Given the description of an element on the screen output the (x, y) to click on. 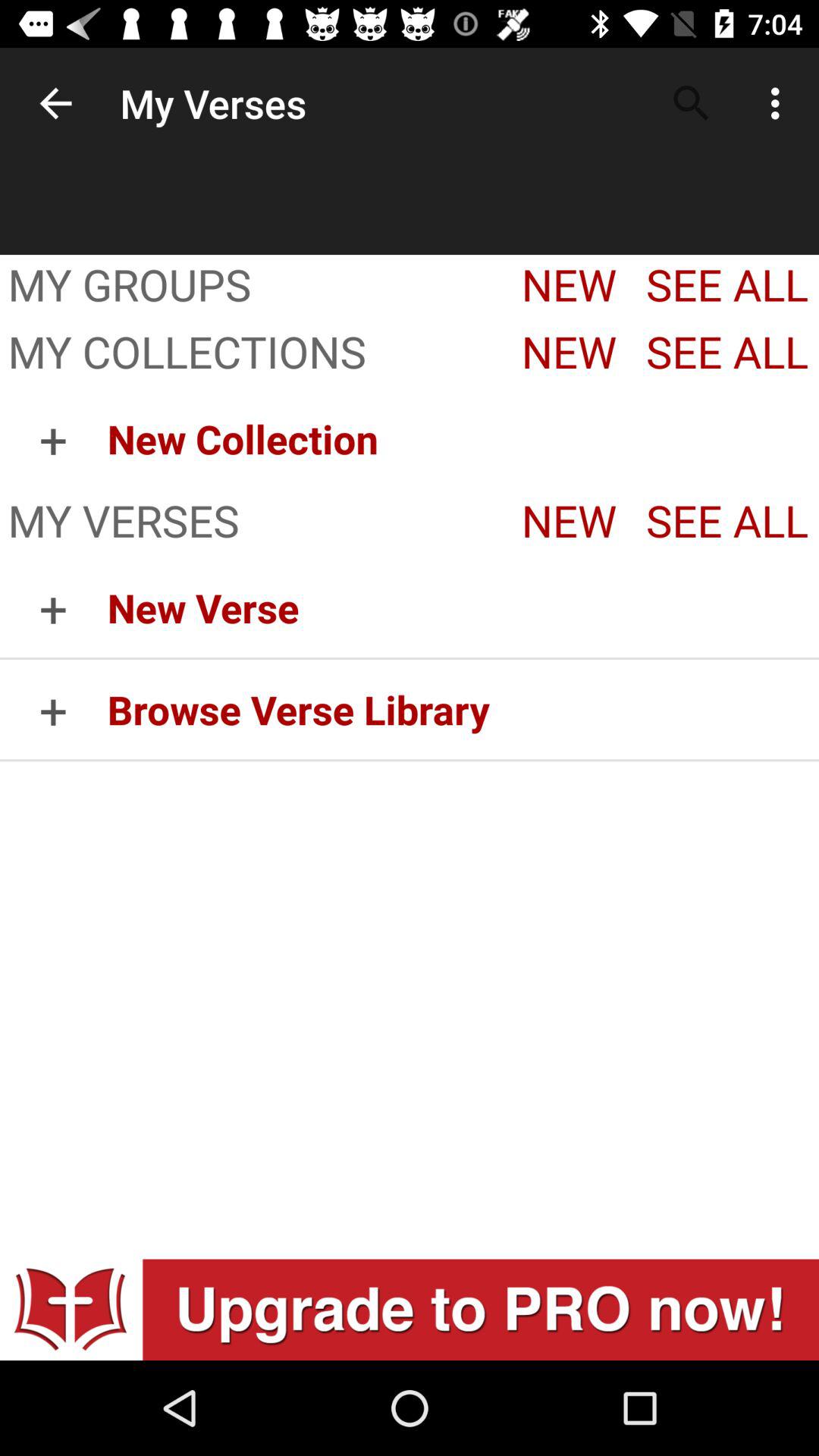
go to the text right to text my groups (564, 287)
select the button which is right to my verses (564, 523)
